Given the description of an element on the screen output the (x, y) to click on. 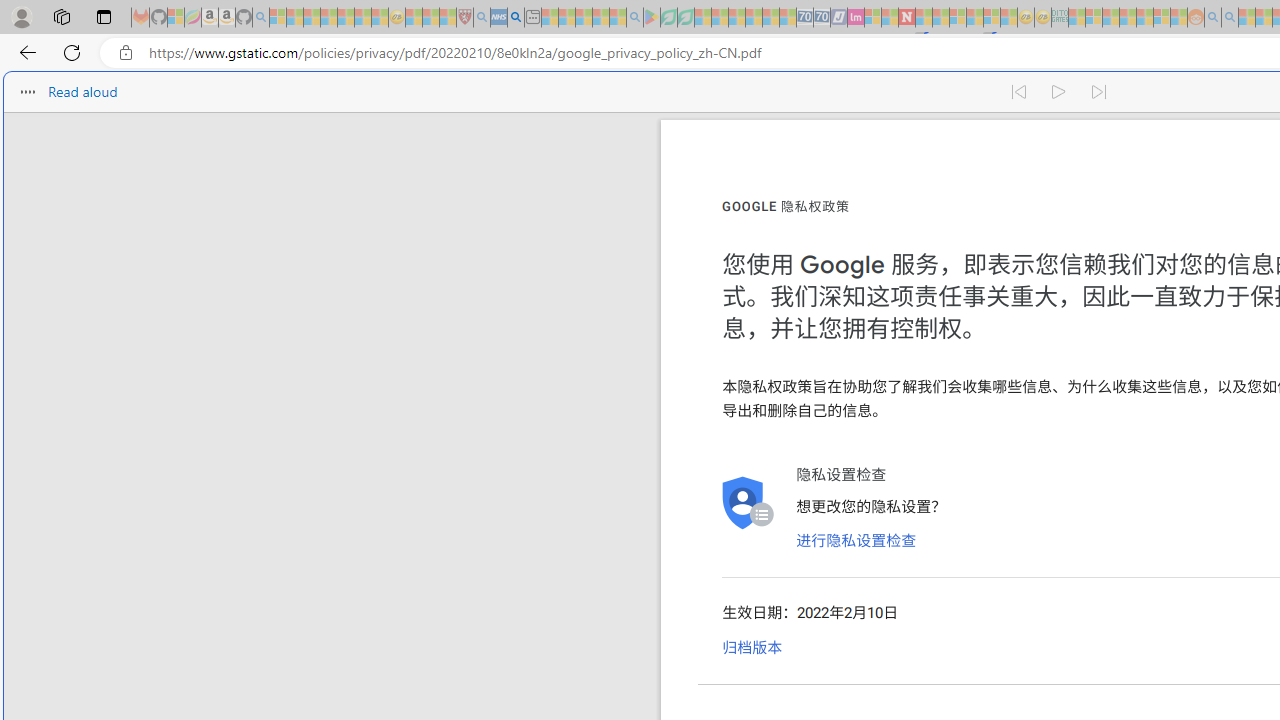
Read next paragraph (1099, 92)
DITOGAMES AG Imprint - Sleeping (1059, 17)
Bluey: Let's Play! - Apps on Google Play - Sleeping (651, 17)
Robert H. Shmerling, MD - Harvard Health - Sleeping (465, 17)
google - Search - Sleeping (634, 17)
Recipes - MSN - Sleeping (413, 17)
Cheap Hotels - Save70.com - Sleeping (821, 17)
Jobs - lastminute.com Investor Portal - Sleeping (855, 17)
